Given the description of an element on the screen output the (x, y) to click on. 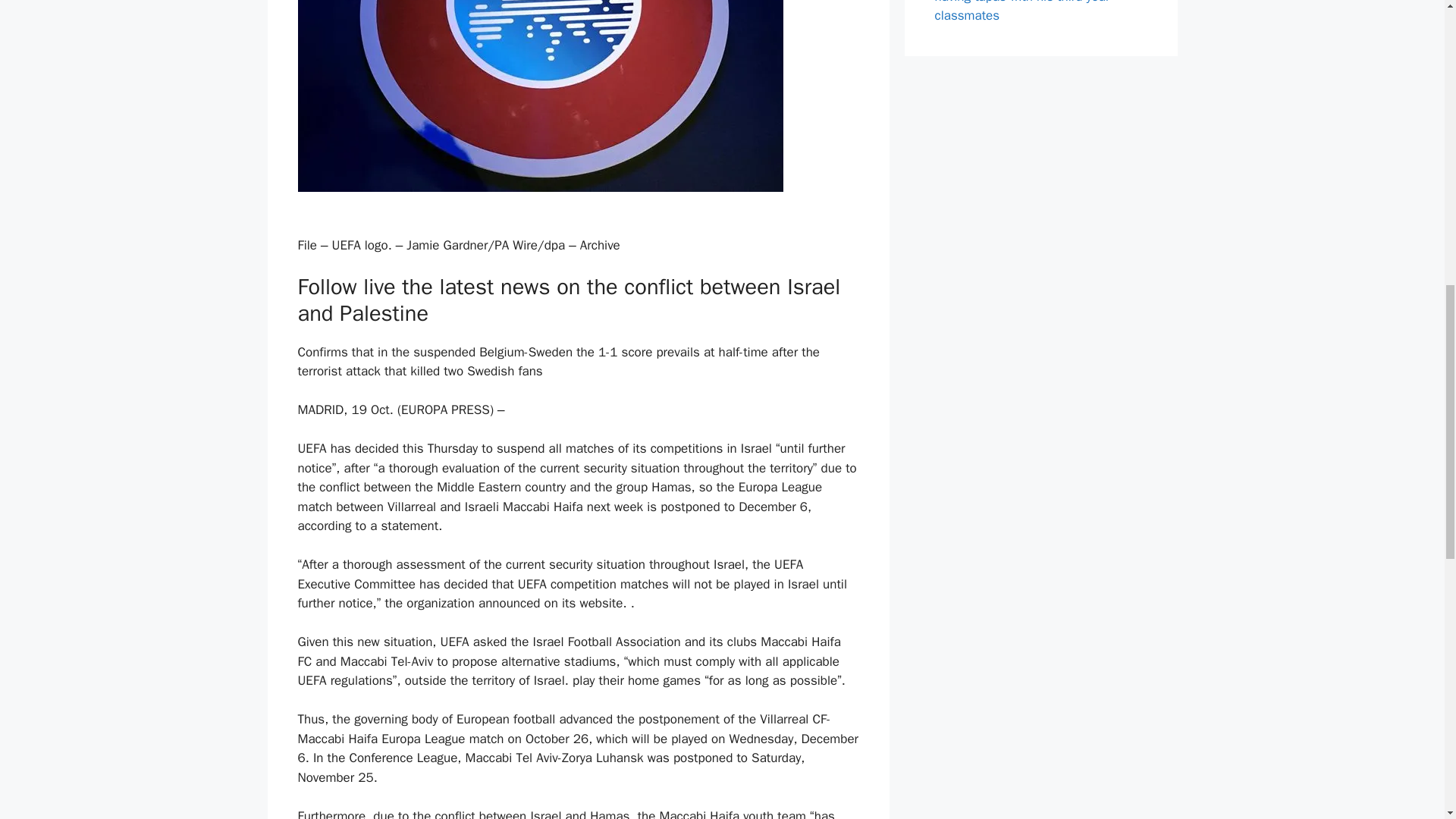
UEFA suspends all matches in Israel "until new notice" (540, 95)
having tapas with his third-year classmates (1021, 11)
Scroll back to top (1406, 720)
